Given the description of an element on the screen output the (x, y) to click on. 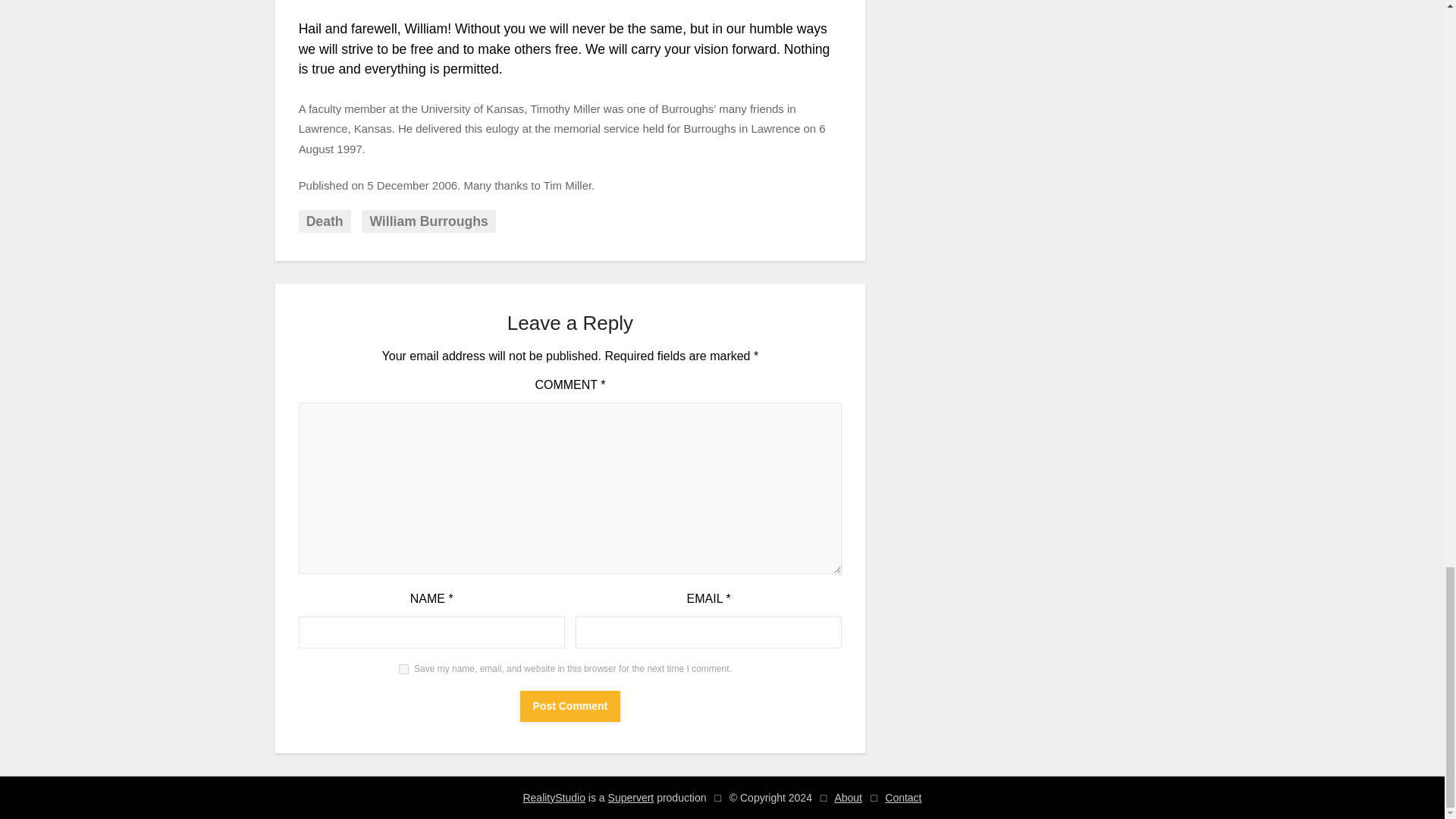
About (847, 797)
Supervert (630, 797)
Contact (903, 797)
William Burroughs (428, 220)
yes (403, 669)
RealityStudio (553, 797)
Post Comment (570, 706)
Death (324, 220)
Post Comment (570, 706)
